Given the description of an element on the screen output the (x, y) to click on. 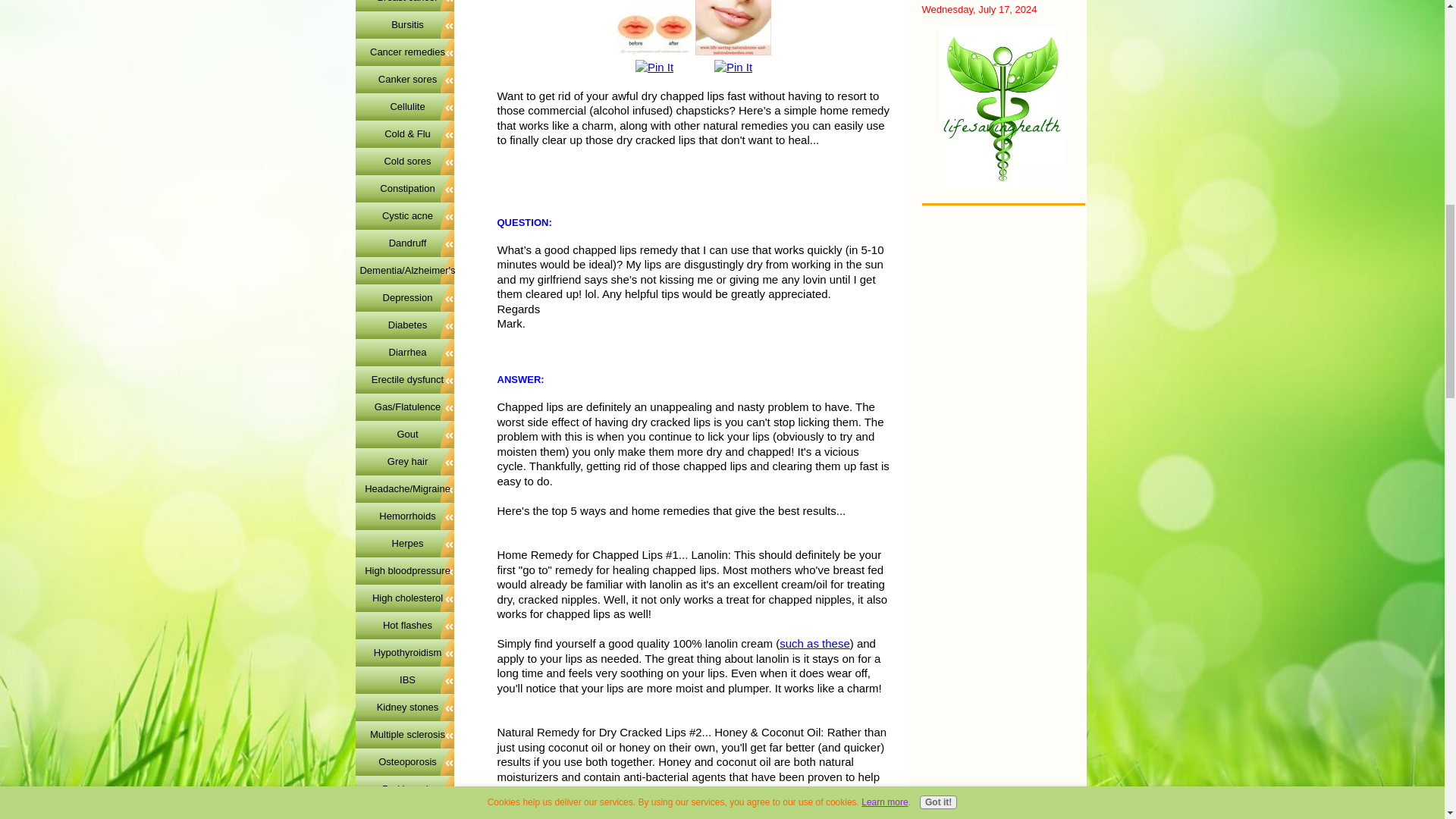
Constipation (407, 187)
Pin It (733, 67)
Bursitis (407, 23)
Canker sores (407, 78)
Cystic acne (407, 215)
Cold sores (407, 160)
Dandruff (407, 242)
Natural healing (1002, 107)
Pin It (653, 67)
such as these (814, 643)
Cellulite (407, 105)
Cancer remedies (407, 51)
Breast cancer (407, 5)
